Given the description of an element on the screen output the (x, y) to click on. 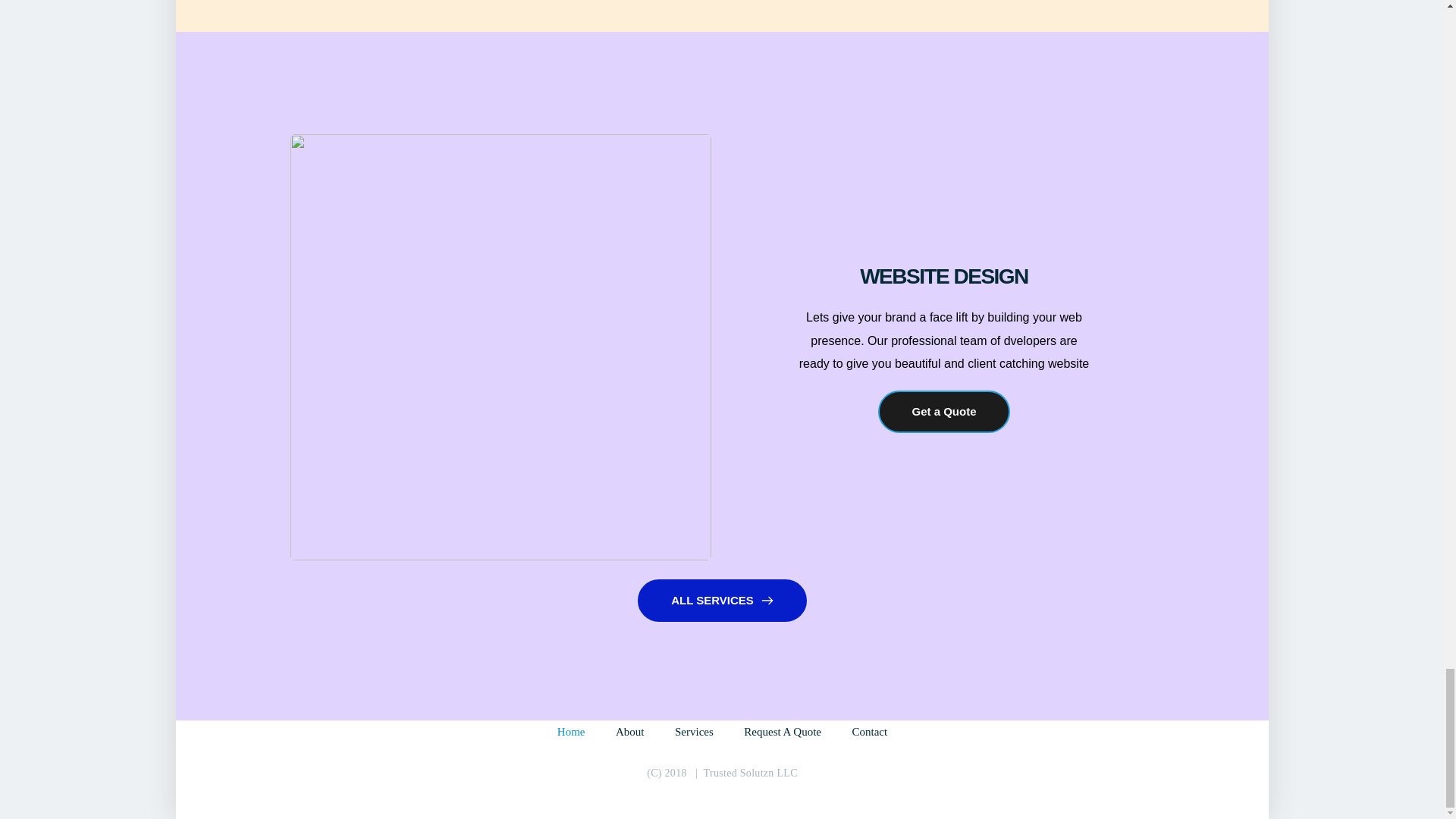
Services (694, 731)
Request A Quote (782, 731)
Contact (869, 731)
ALL SERVICES (721, 600)
Get a Quote (943, 411)
Home (571, 731)
About (630, 731)
